Given the description of an element on the screen output the (x, y) to click on. 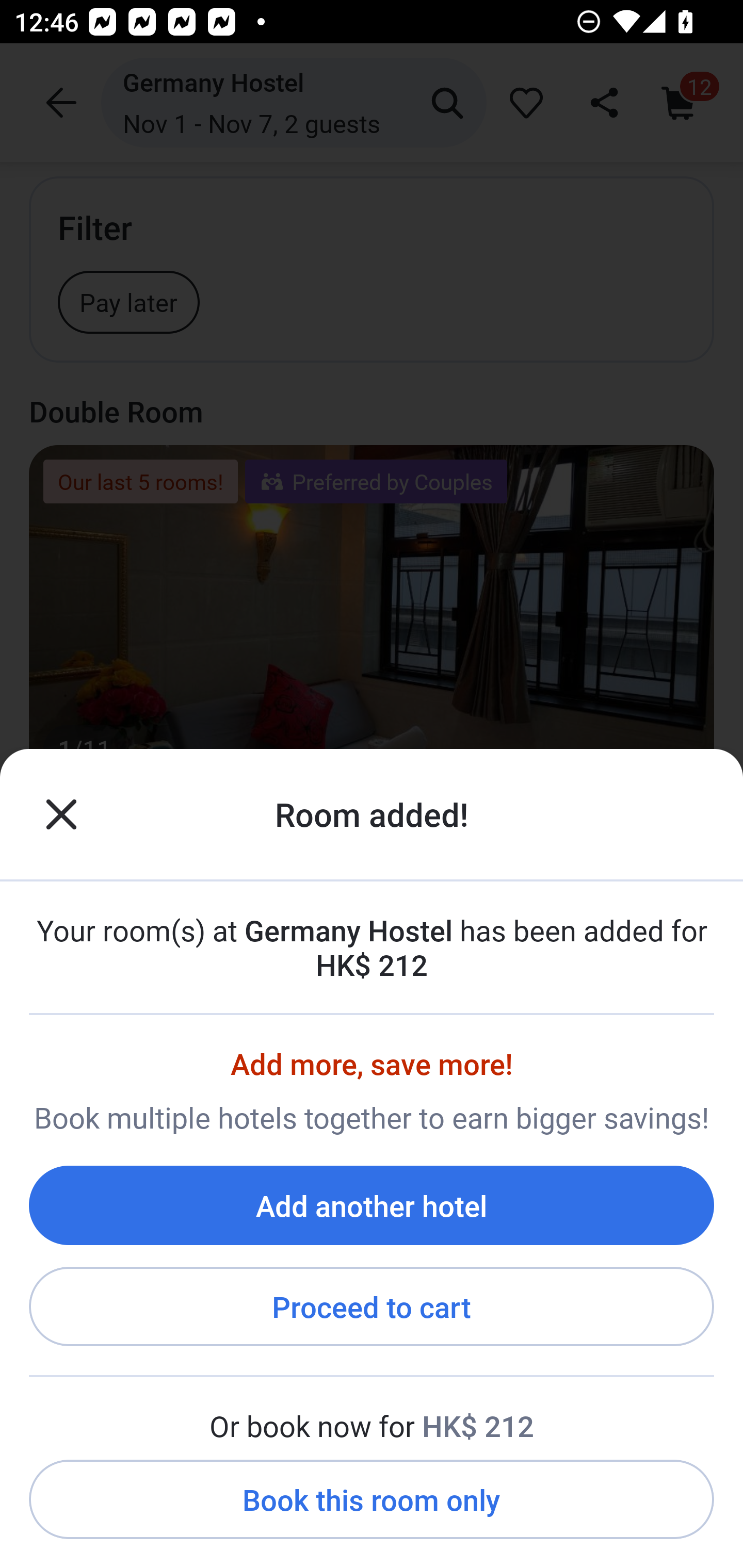
Add another hotel (371, 1204)
Proceed to cart (371, 1306)
Book this room only (371, 1499)
